Given the description of an element on the screen output the (x, y) to click on. 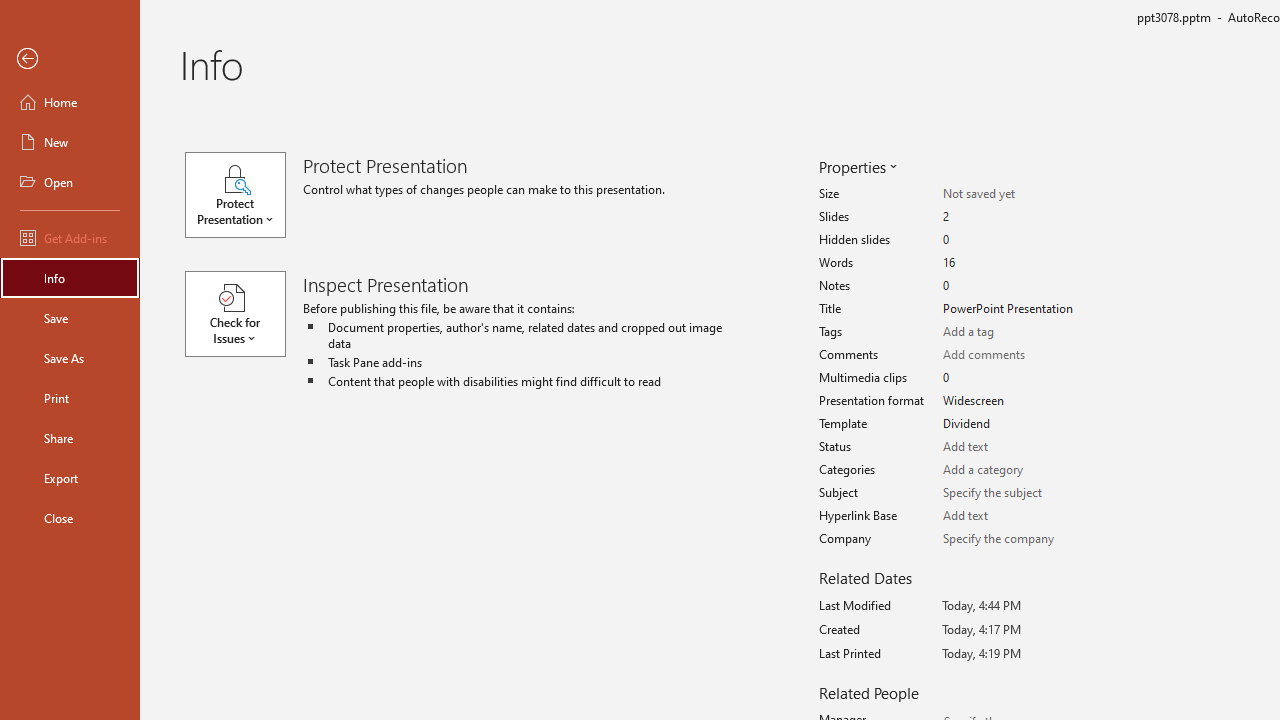
Title (1012, 309)
Hyperlink Base (1012, 516)
Export (69, 477)
Save As (69, 357)
Words (1012, 263)
Print (69, 398)
Subject (1012, 493)
Size (1012, 194)
Tags (1012, 332)
Multimedia clips (1012, 378)
